Given the description of an element on the screen output the (x, y) to click on. 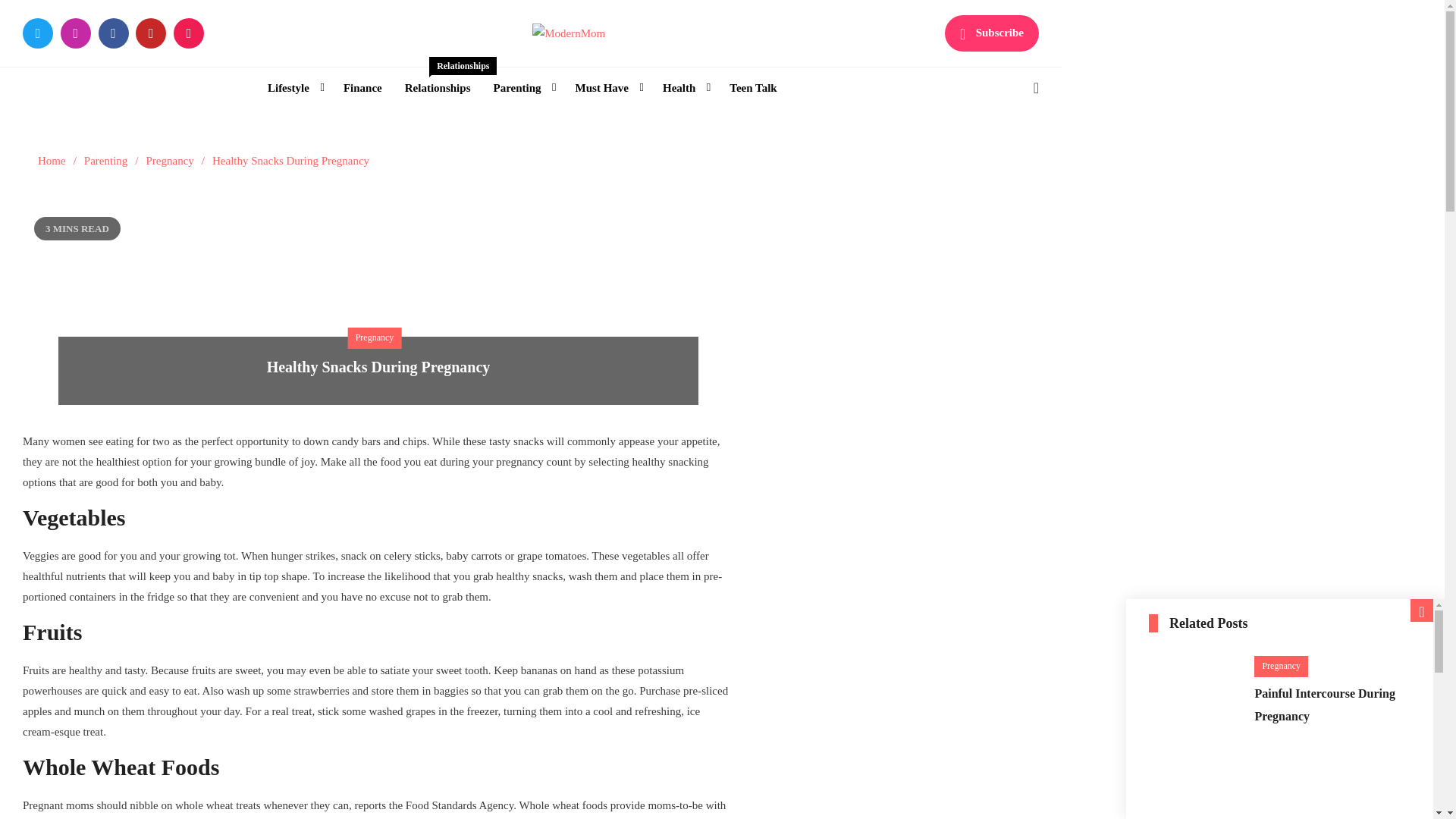
Health (683, 88)
Lifestyle (437, 88)
Parenting (293, 88)
Must Have (522, 88)
Finance (607, 88)
Teen Talk (362, 88)
Home (752, 88)
Subscribe (51, 160)
ModernMom (991, 33)
Search (610, 64)
